Given the description of an element on the screen output the (x, y) to click on. 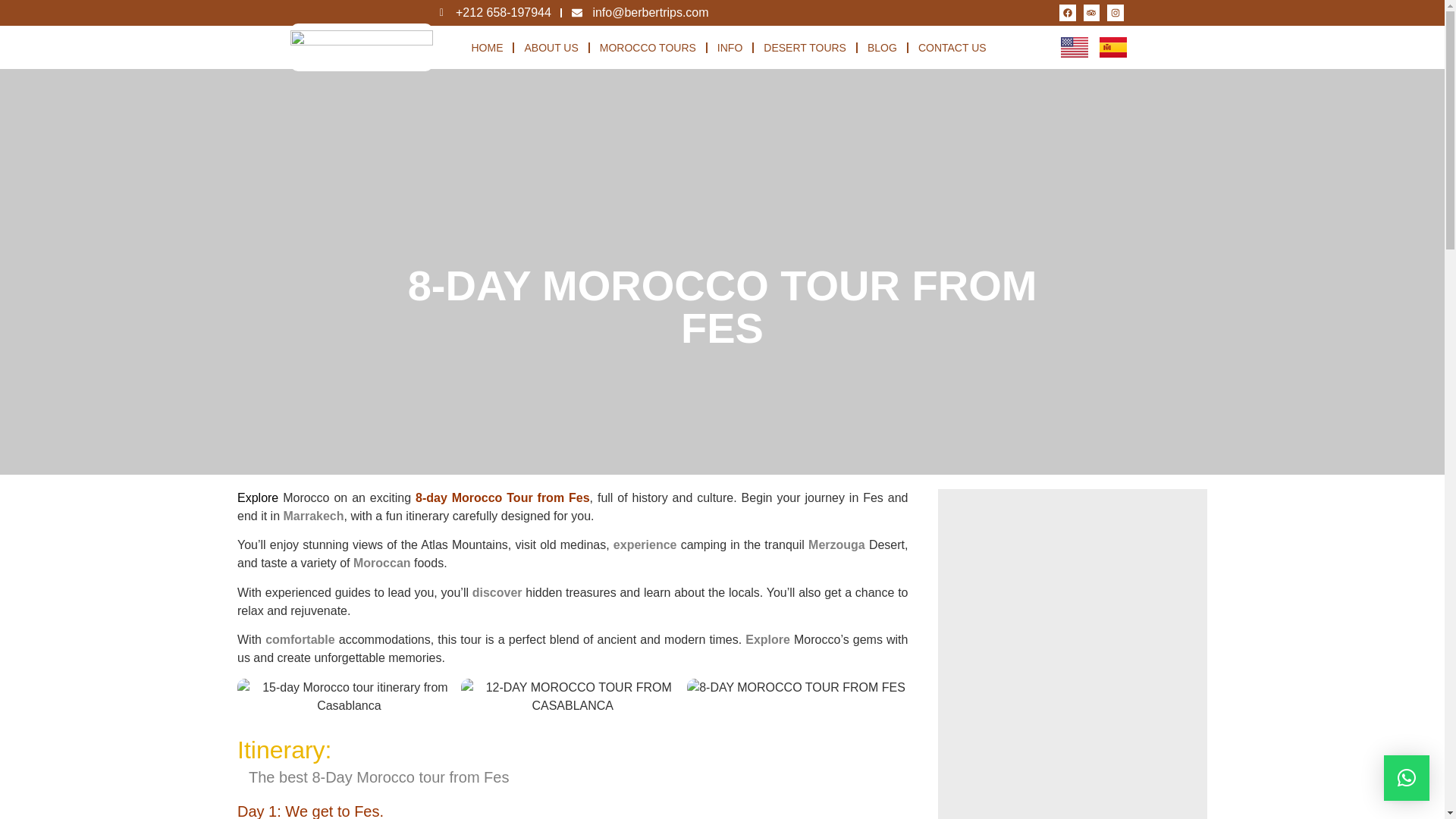
INFO (729, 46)
ABOUT US (550, 46)
MOROCCO TOURS (647, 46)
DESERT TOURS (805, 46)
HOME (486, 46)
